Given the description of an element on the screen output the (x, y) to click on. 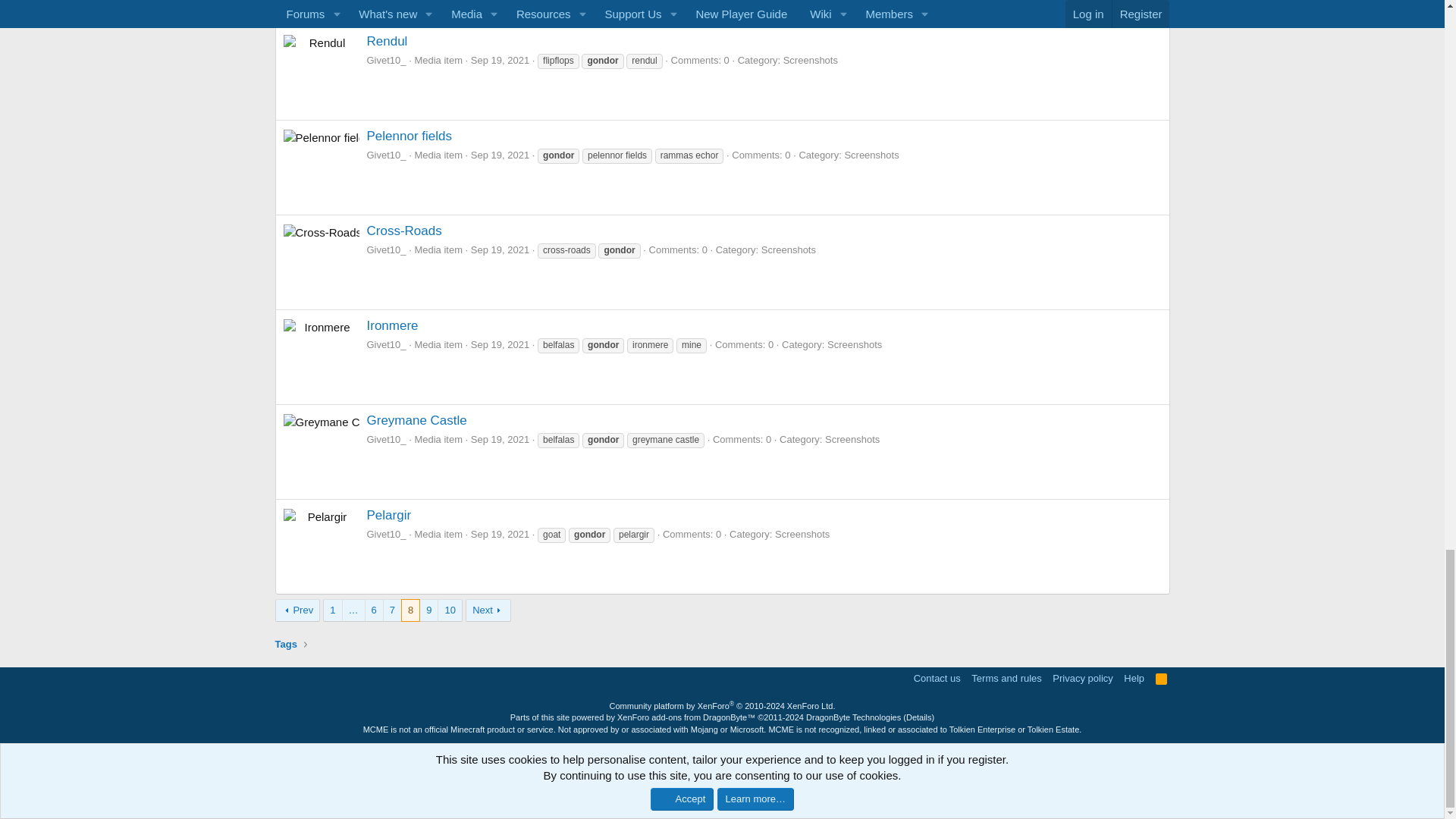
Sep 19, 2021 at 6:30 PM (499, 60)
Sep 19, 2021 at 6:30 PM (499, 344)
Sep 19, 2021 at 6:30 PM (499, 154)
Sep 19, 2021 at 6:30 PM (499, 439)
Sep 19, 2021 at 6:30 PM (499, 249)
Style variation (282, 677)
